Given the description of an element on the screen output the (x, y) to click on. 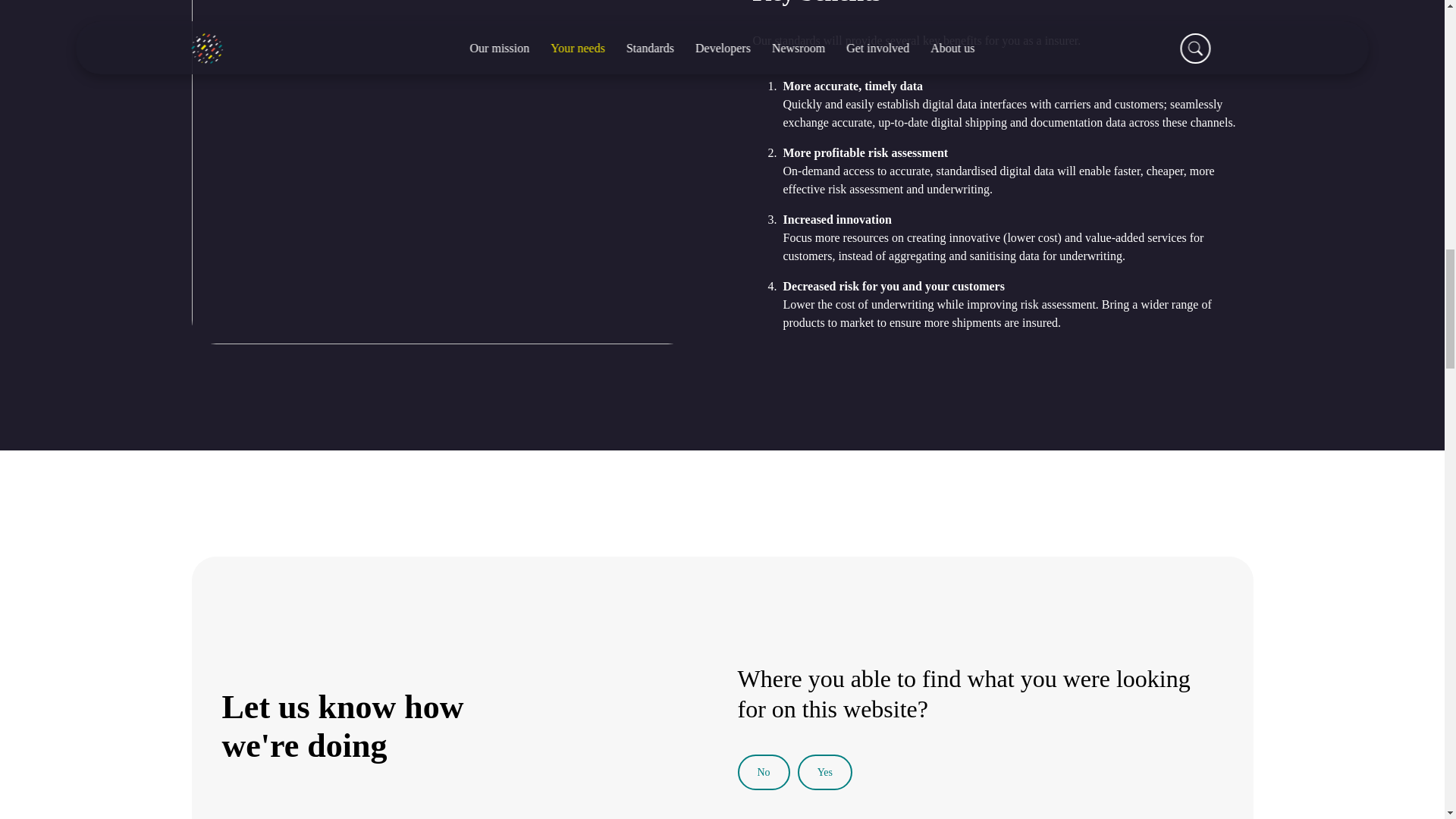
Yes (824, 772)
No (762, 772)
